Given the description of an element on the screen output the (x, y) to click on. 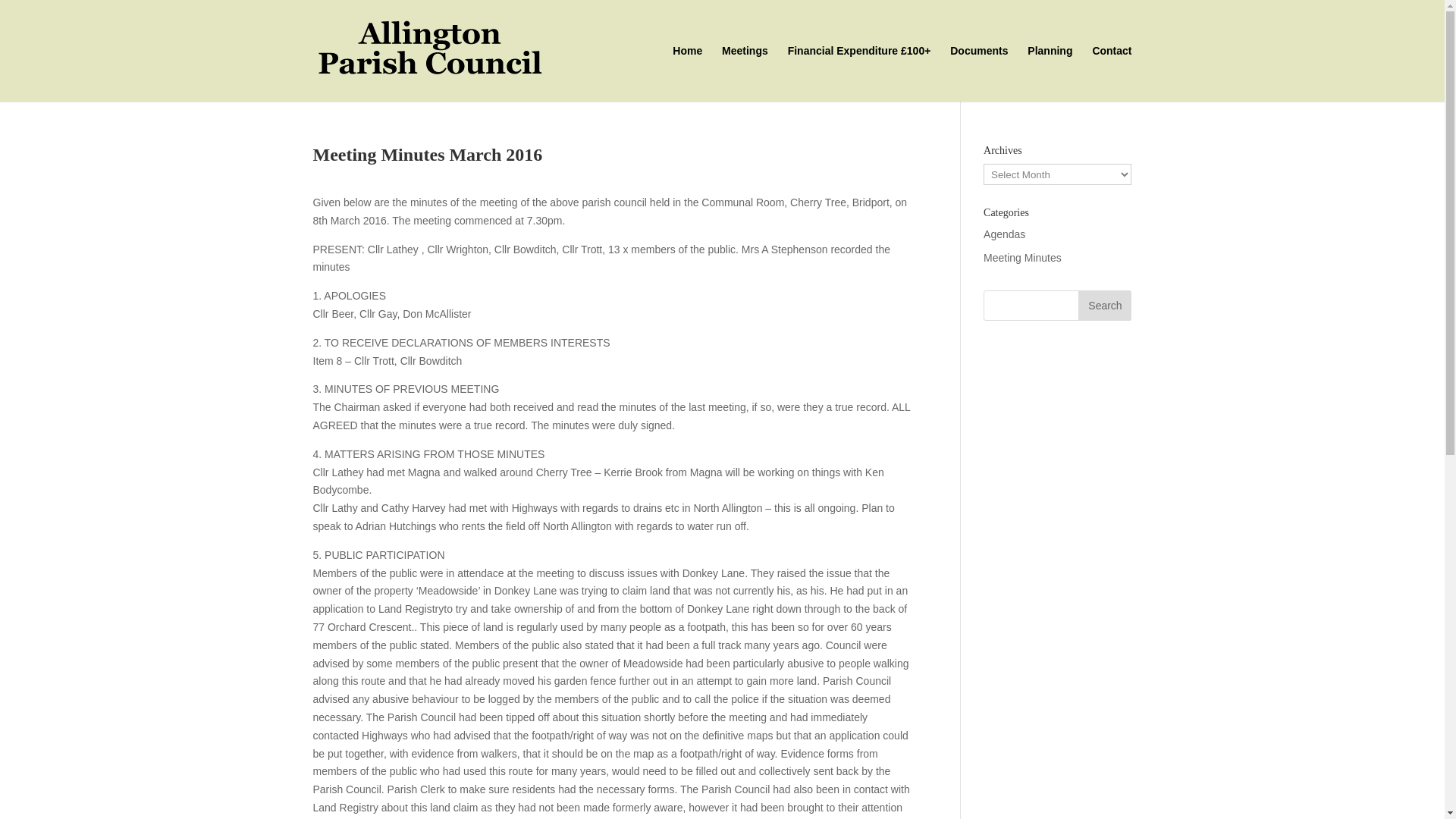
Search (1104, 305)
Meeting Minutes (1022, 257)
Documents (978, 73)
Agendas (1004, 234)
Search (1104, 305)
